Given the description of an element on the screen output the (x, y) to click on. 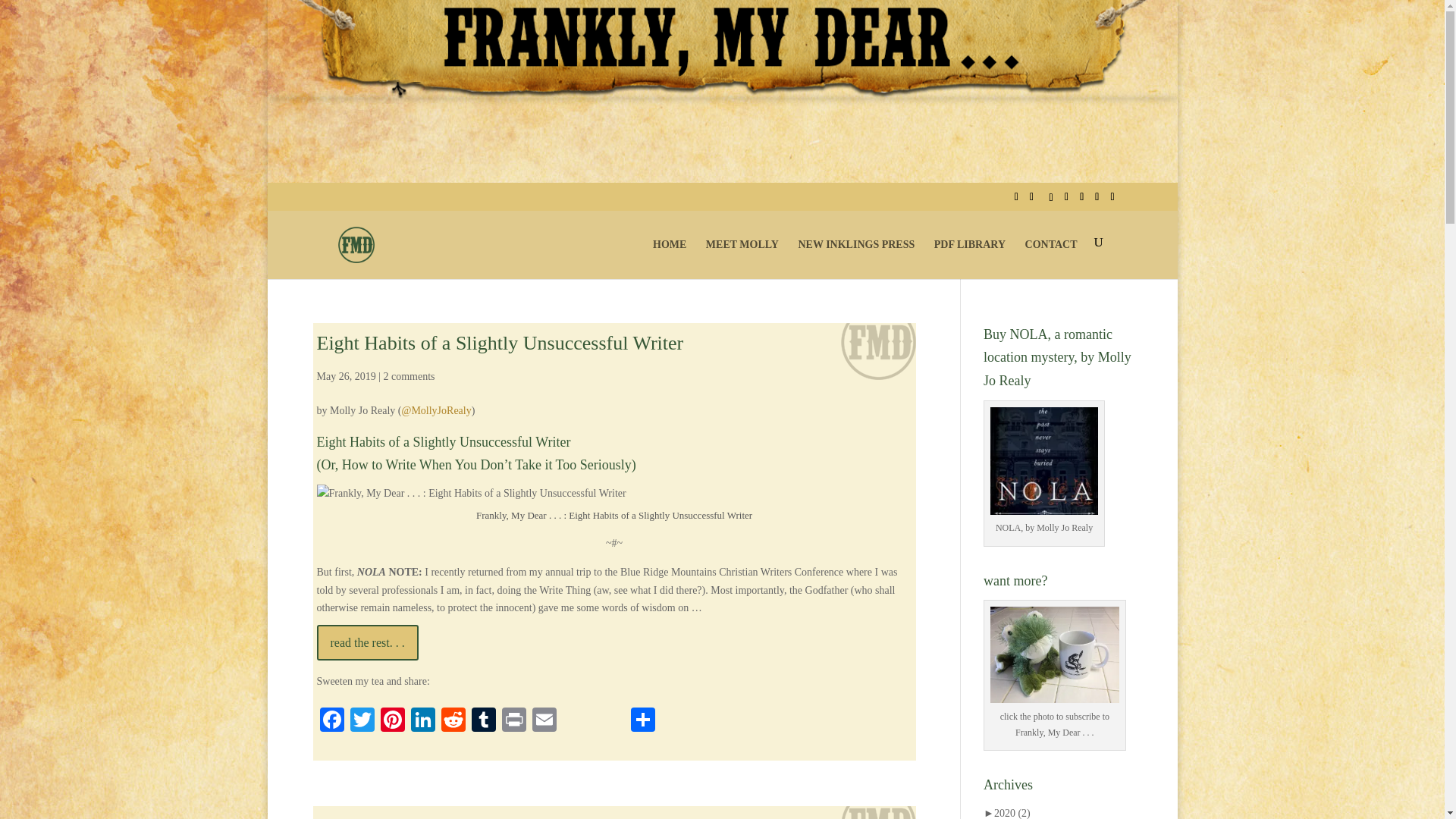
CONTACT (1051, 257)
MEET MOLLY (742, 257)
PDF LIBRARY (970, 257)
Eight Habits of a Slightly Unsuccessful Writer (500, 342)
2 comments (407, 376)
read the rest. . . (368, 642)
NEW INKLINGS PRESS (855, 257)
